Given the description of an element on the screen output the (x, y) to click on. 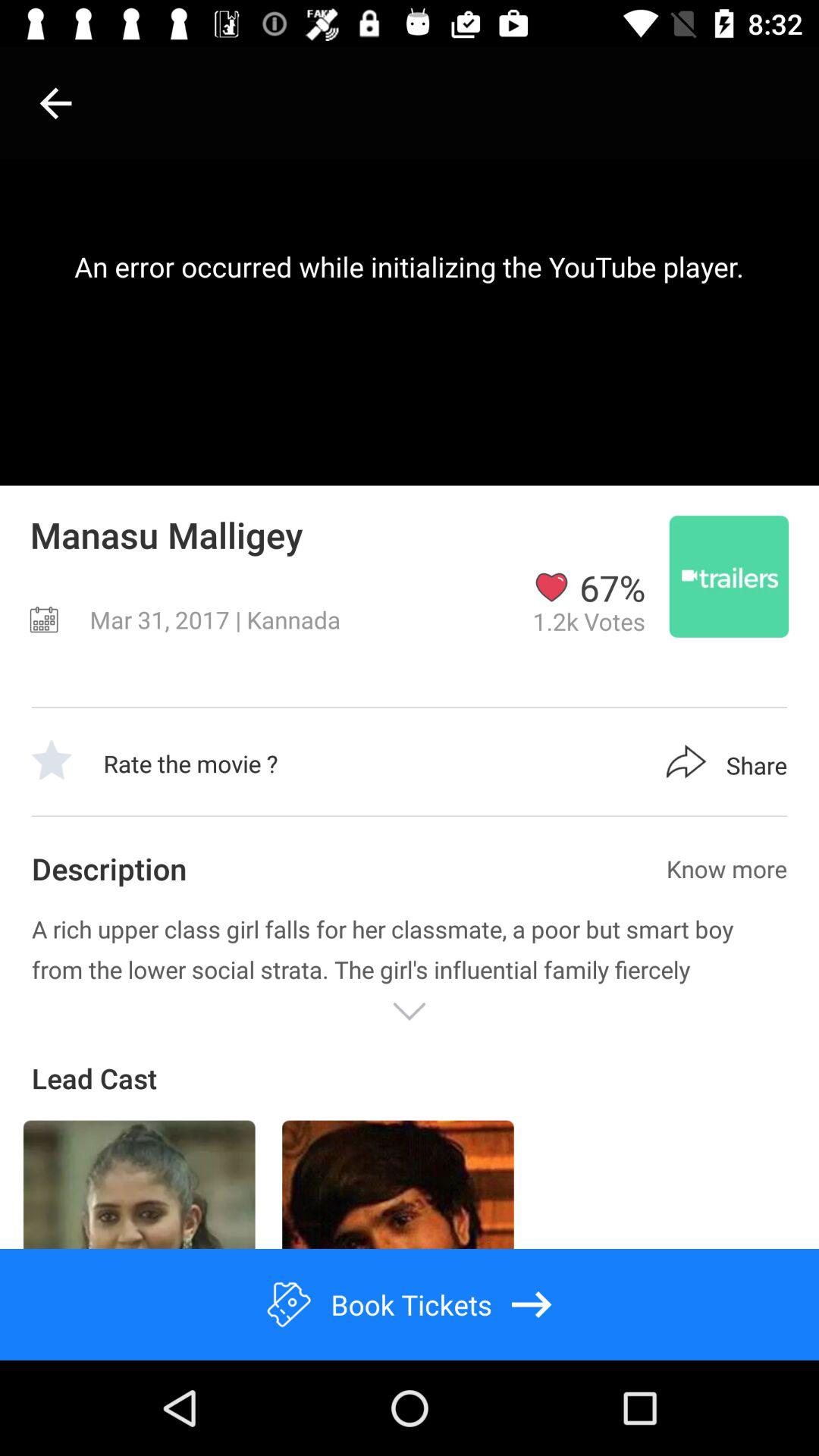
see traillers (728, 576)
